Given the description of an element on the screen output the (x, y) to click on. 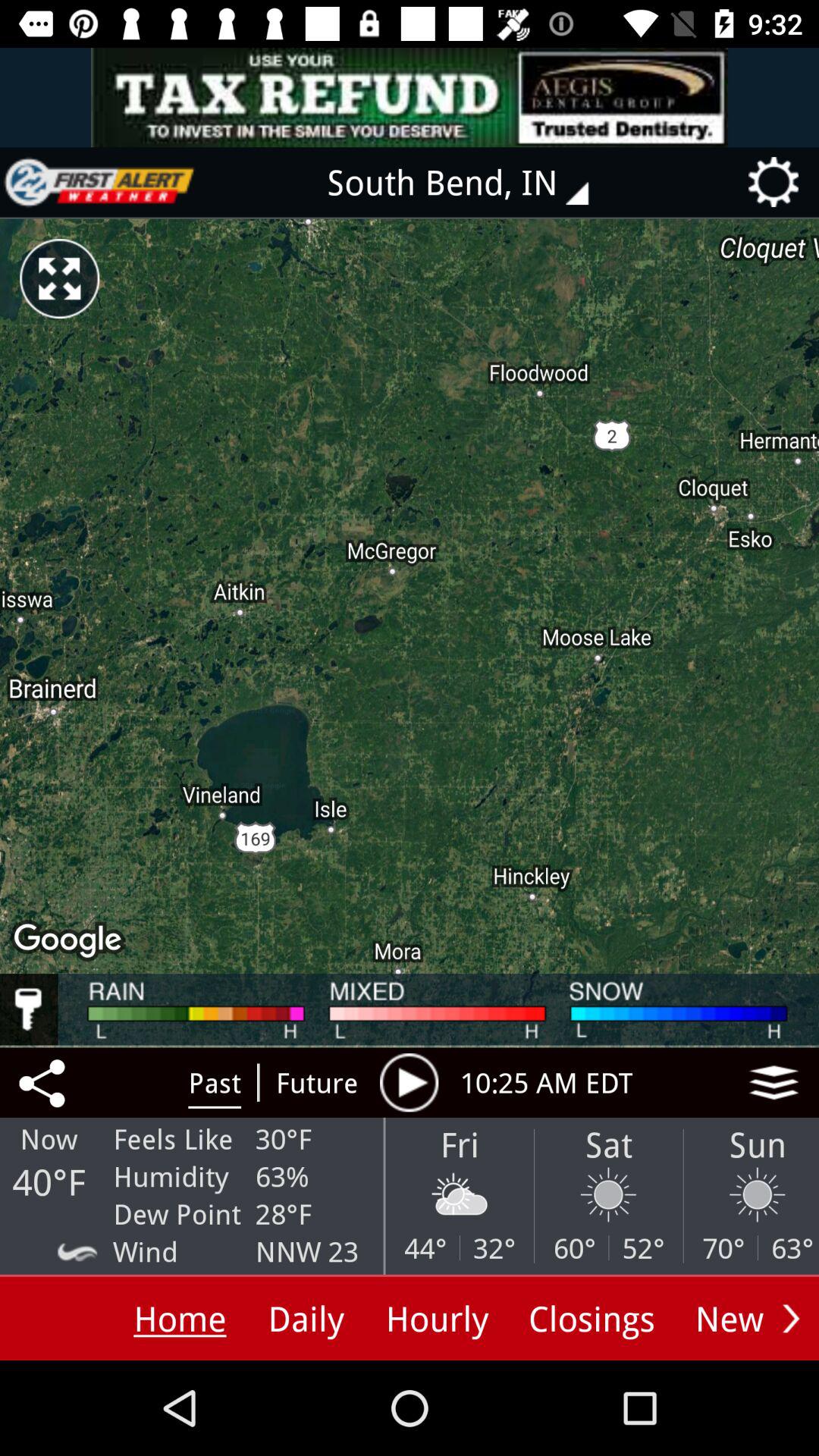
play (409, 1082)
